Given the description of an element on the screen output the (x, y) to click on. 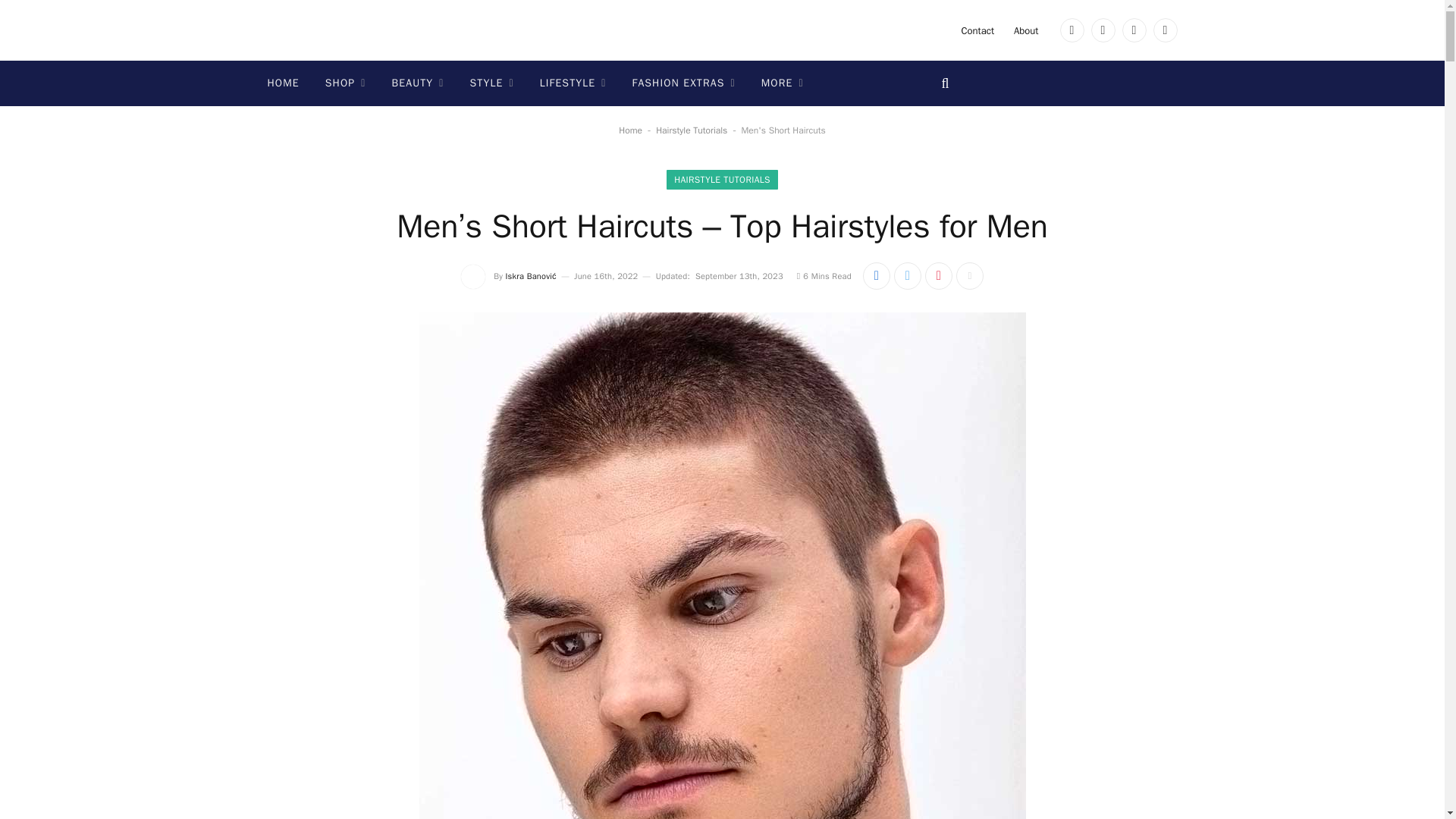
Blufashion.com (342, 30)
Show More Social Sharing (970, 275)
Share on Facebook (876, 275)
Share on Pinterest (938, 275)
